Given the description of an element on the screen output the (x, y) to click on. 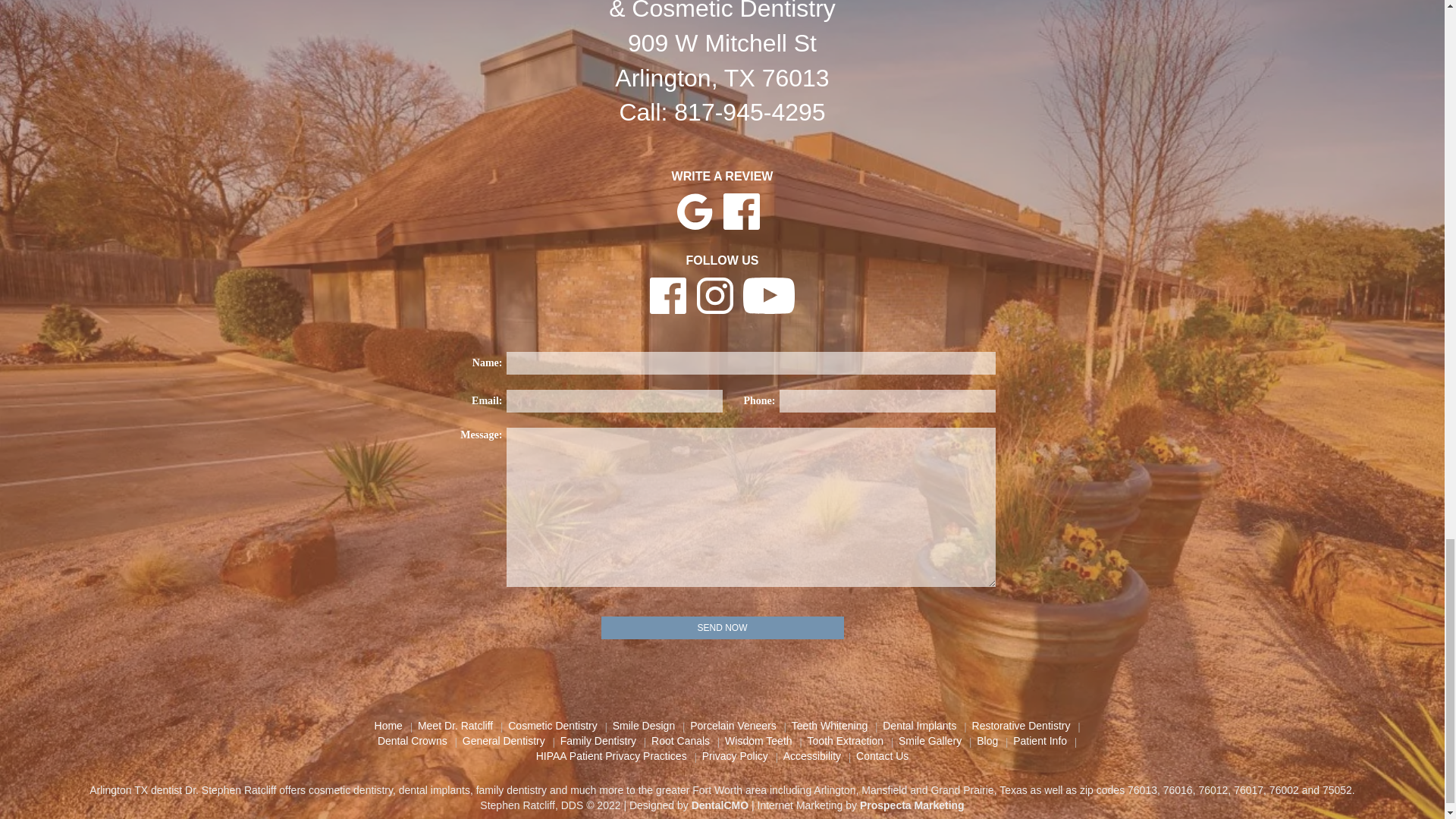
Send Now (721, 627)
